Given the description of an element on the screen output the (x, y) to click on. 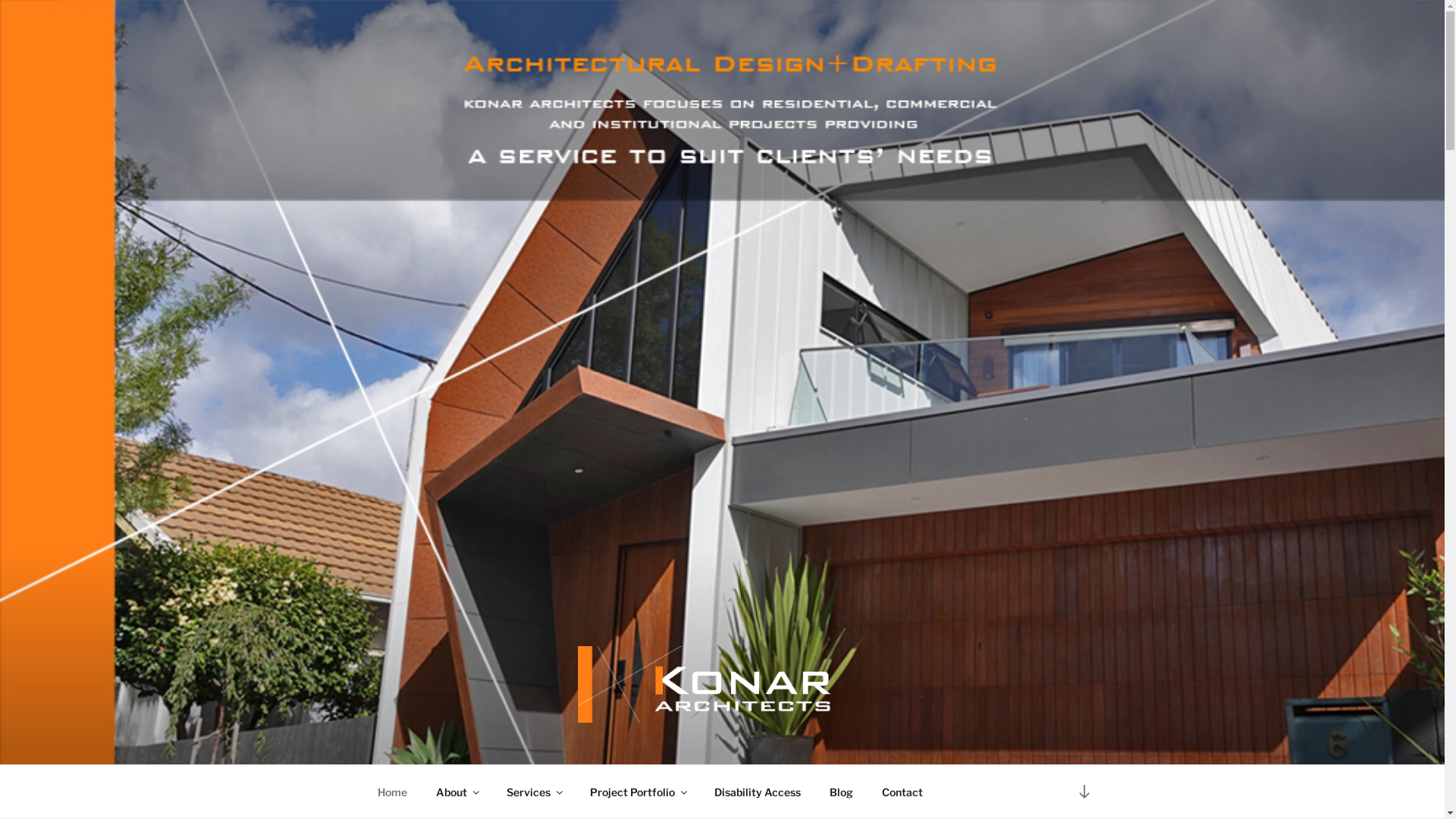
About Element type: text (457, 791)
Home Element type: text (392, 791)
KONAR ARCHITECTS Element type: text (541, 744)
Blog Element type: text (840, 791)
Contact Element type: text (902, 791)
Disability Access Element type: text (756, 791)
Services Element type: text (533, 791)
Project Portfolio Element type: text (637, 791)
